Given the description of an element on the screen output the (x, y) to click on. 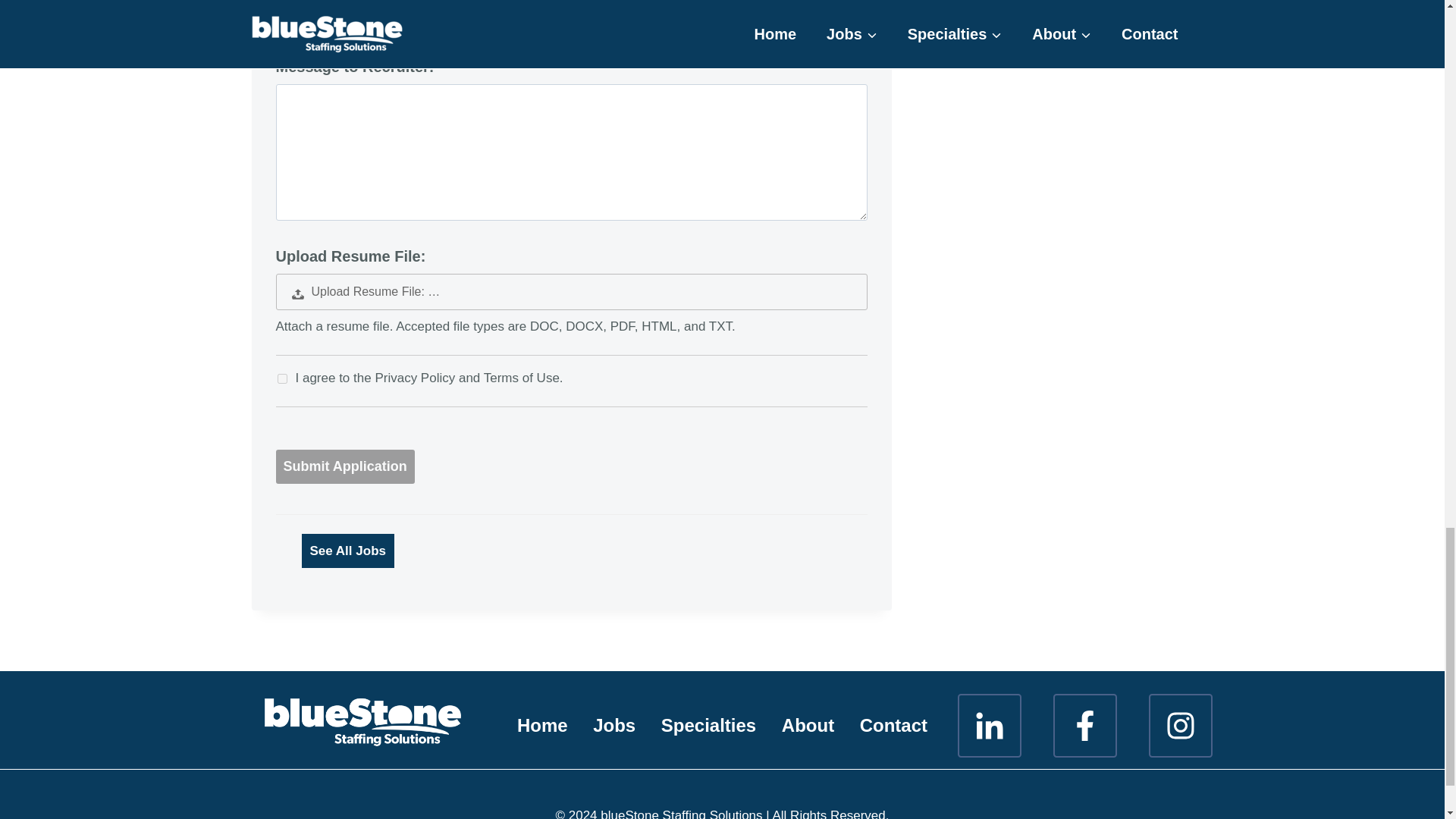
Jobs (613, 725)
See All Jobs (347, 550)
Submit Application (345, 466)
Home (541, 725)
About (807, 725)
Contact (893, 725)
See All Jobs (347, 550)
1 (282, 378)
Submit Application (345, 466)
Specialties (707, 725)
